Given the description of an element on the screen output the (x, y) to click on. 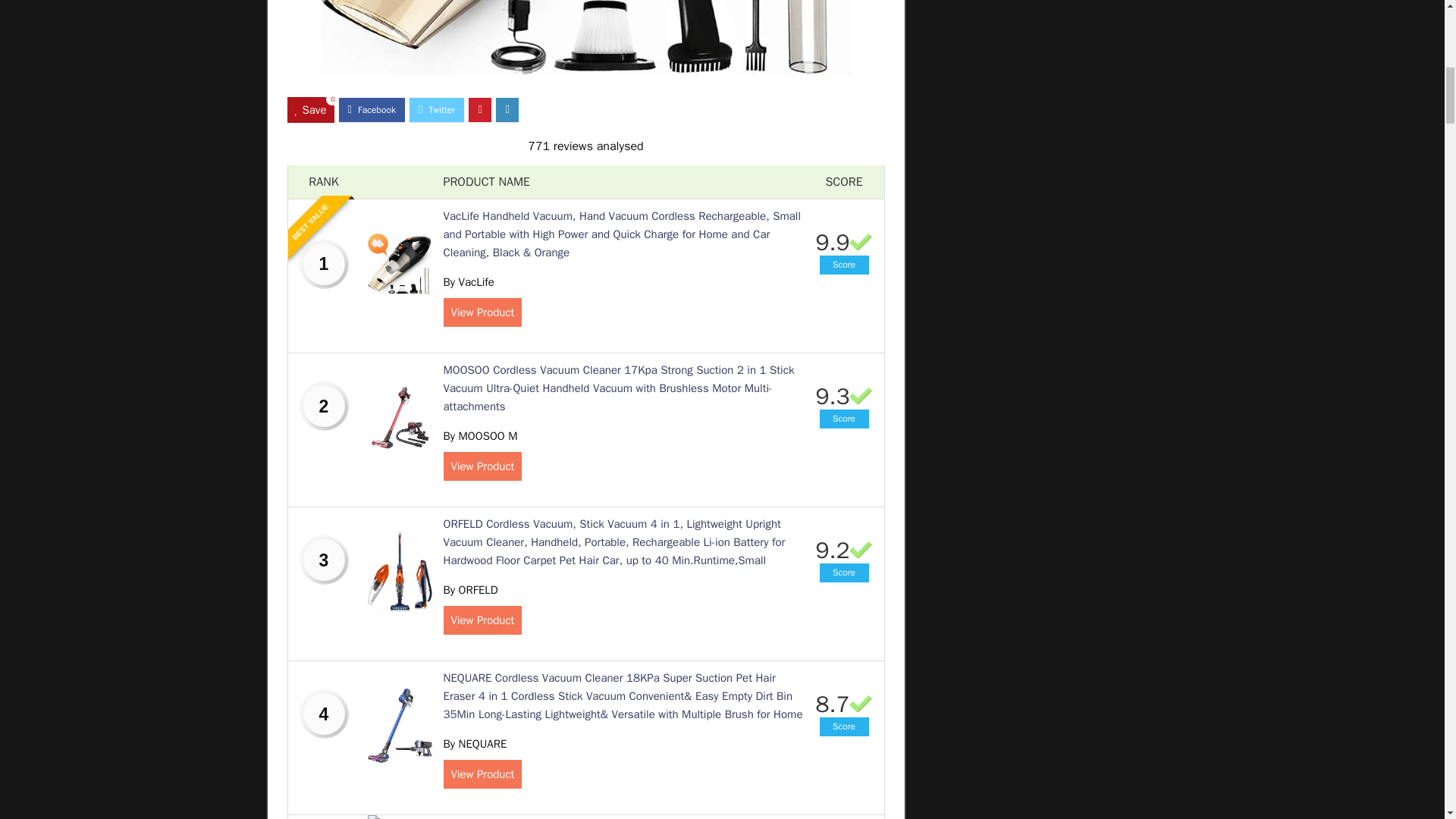
By ORFELD (469, 590)
By NEQUARE (474, 744)
View Product (481, 620)
View Product (481, 774)
View Product (481, 312)
View Product (481, 466)
By MOOSOO M (479, 436)
By VacLife (467, 282)
